Given the description of an element on the screen output the (x, y) to click on. 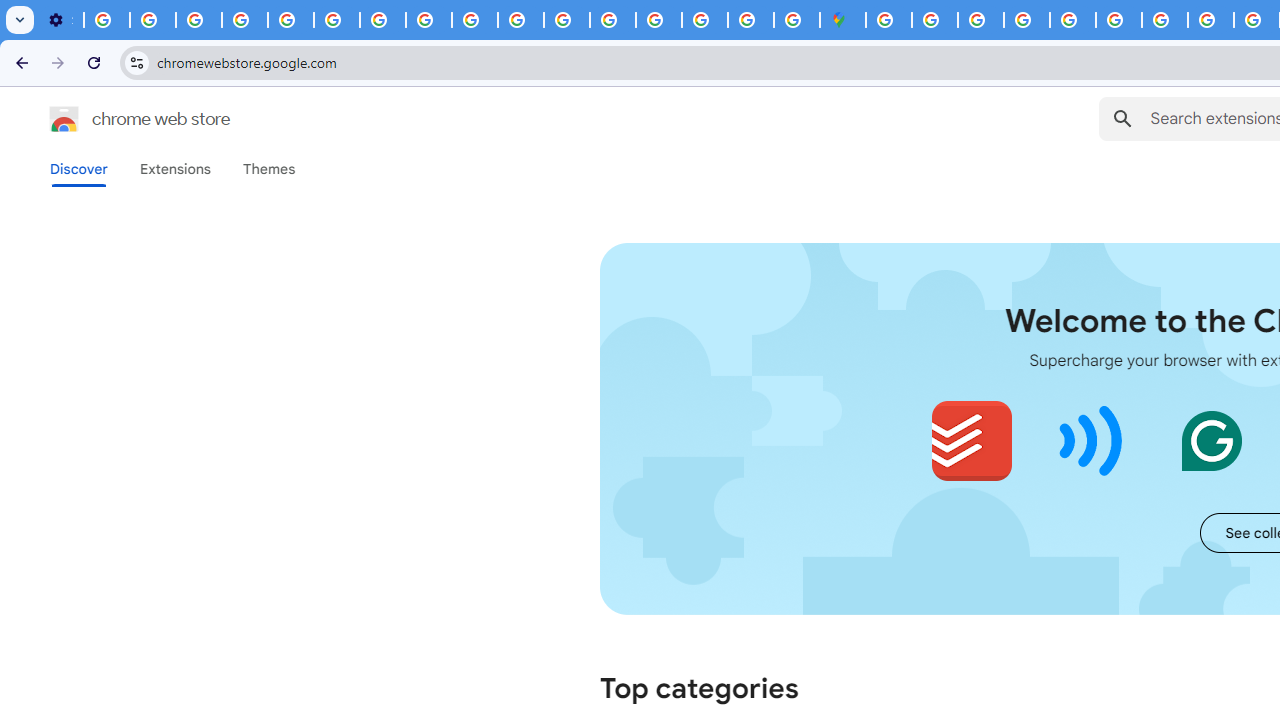
https://scholar.google.com/ (382, 20)
Privacy Help Center - Policies Help (1210, 20)
Sign in - Google Accounts (934, 20)
Privacy Help Center - Policies Help (290, 20)
Chrome Web Store logo chrome web store (118, 118)
